Given the description of an element on the screen output the (x, y) to click on. 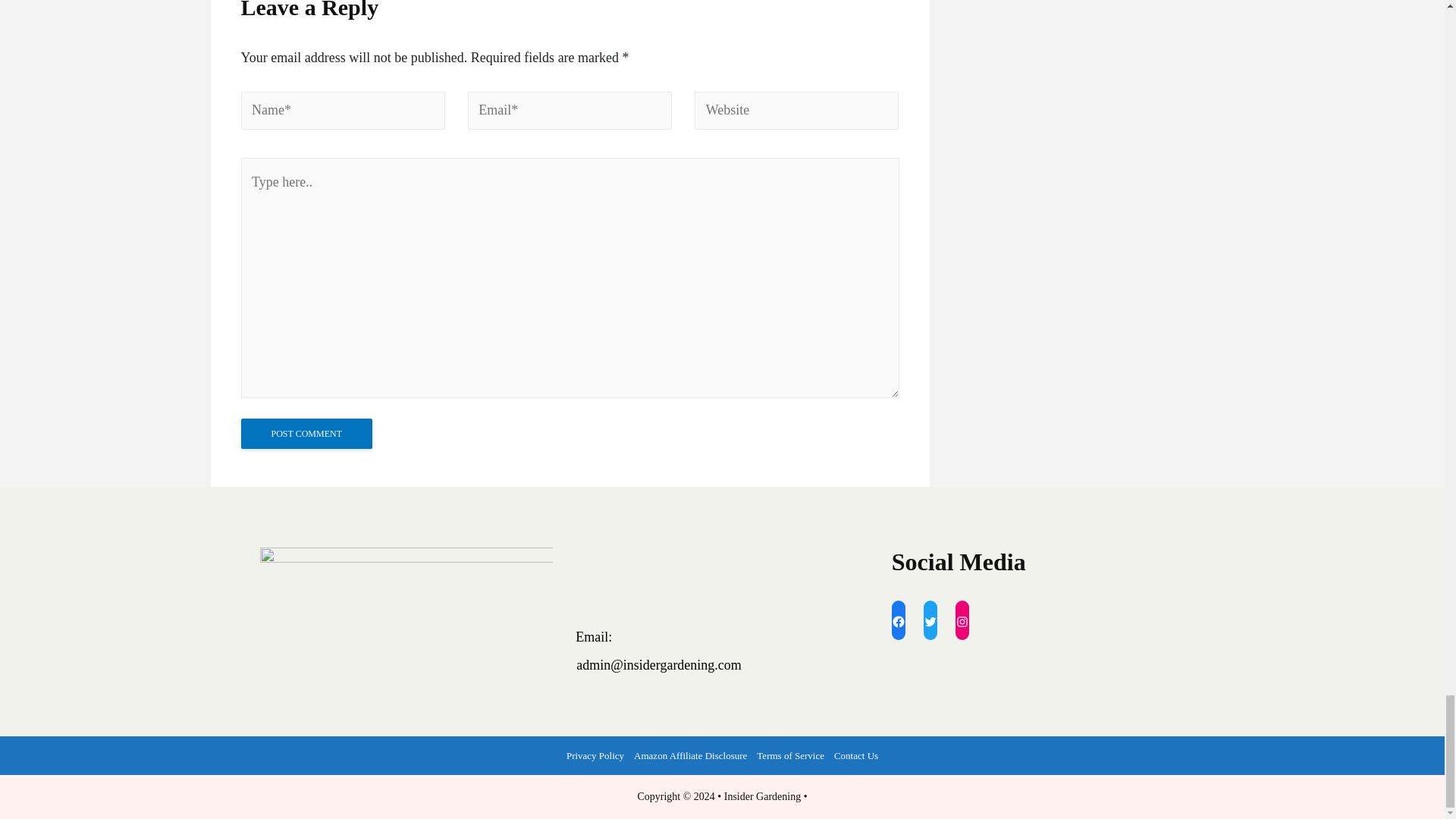
Contact Us (855, 754)
Amazon Affiliate Disclosure (690, 754)
Insider Gardening (761, 796)
Terms of Service (790, 754)
Post Comment (306, 433)
Post Comment (306, 433)
Privacy Policy (594, 754)
